Given the description of an element on the screen output the (x, y) to click on. 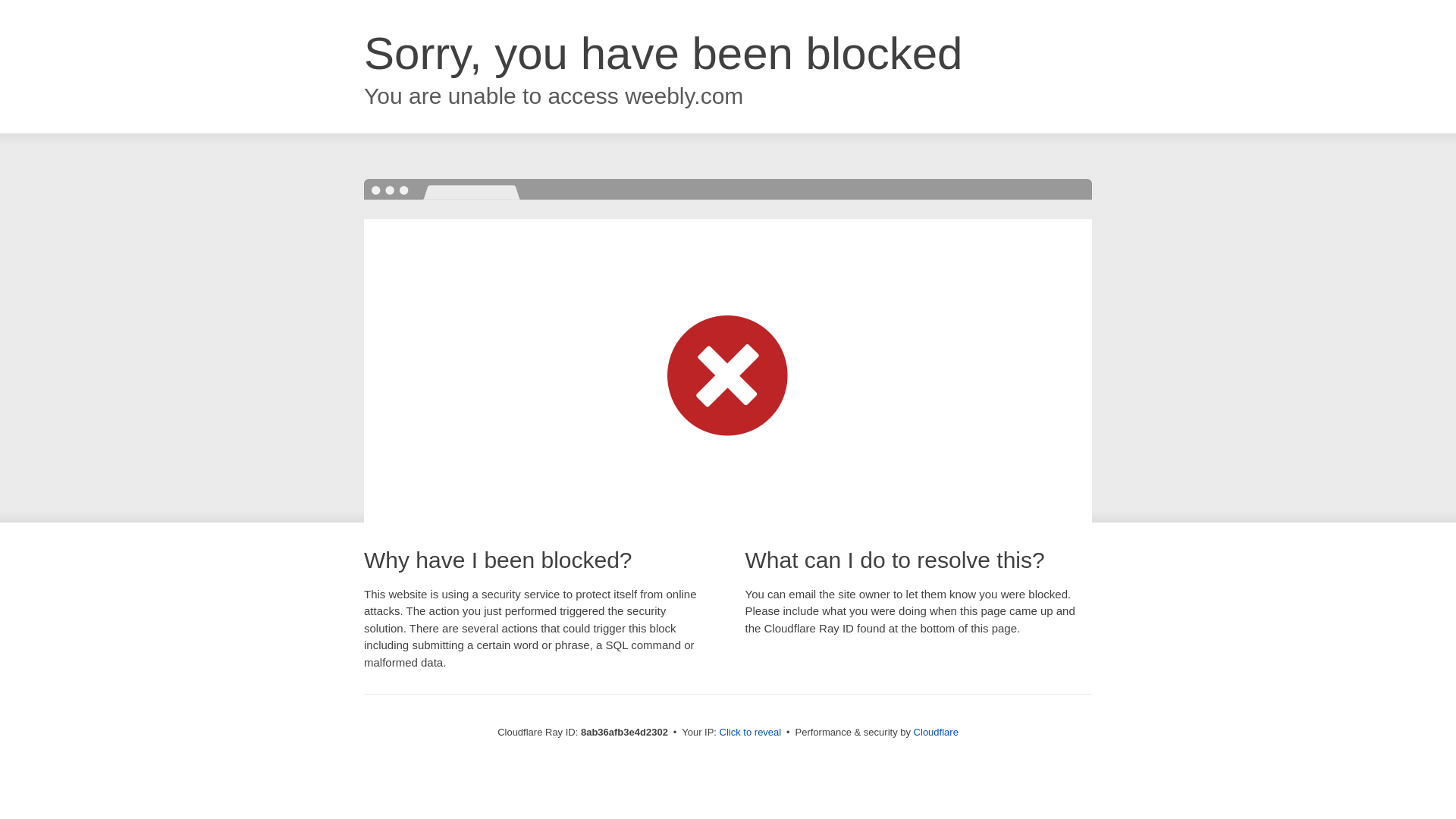
Cloudflare (936, 731)
Click to reveal (750, 732)
